Given the description of an element on the screen output the (x, y) to click on. 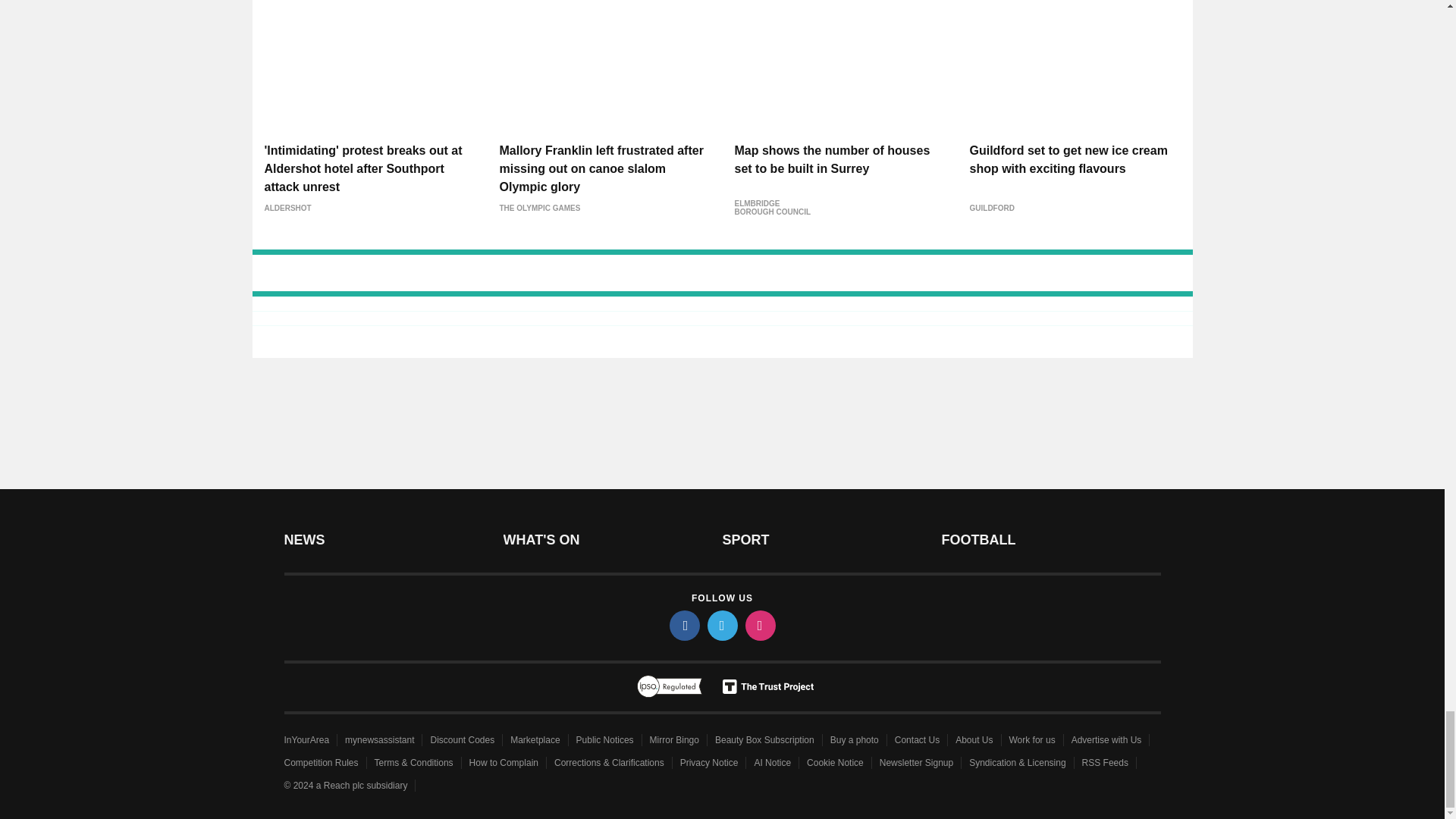
instagram (759, 625)
facebook (683, 625)
twitter (721, 625)
